Given the description of an element on the screen output the (x, y) to click on. 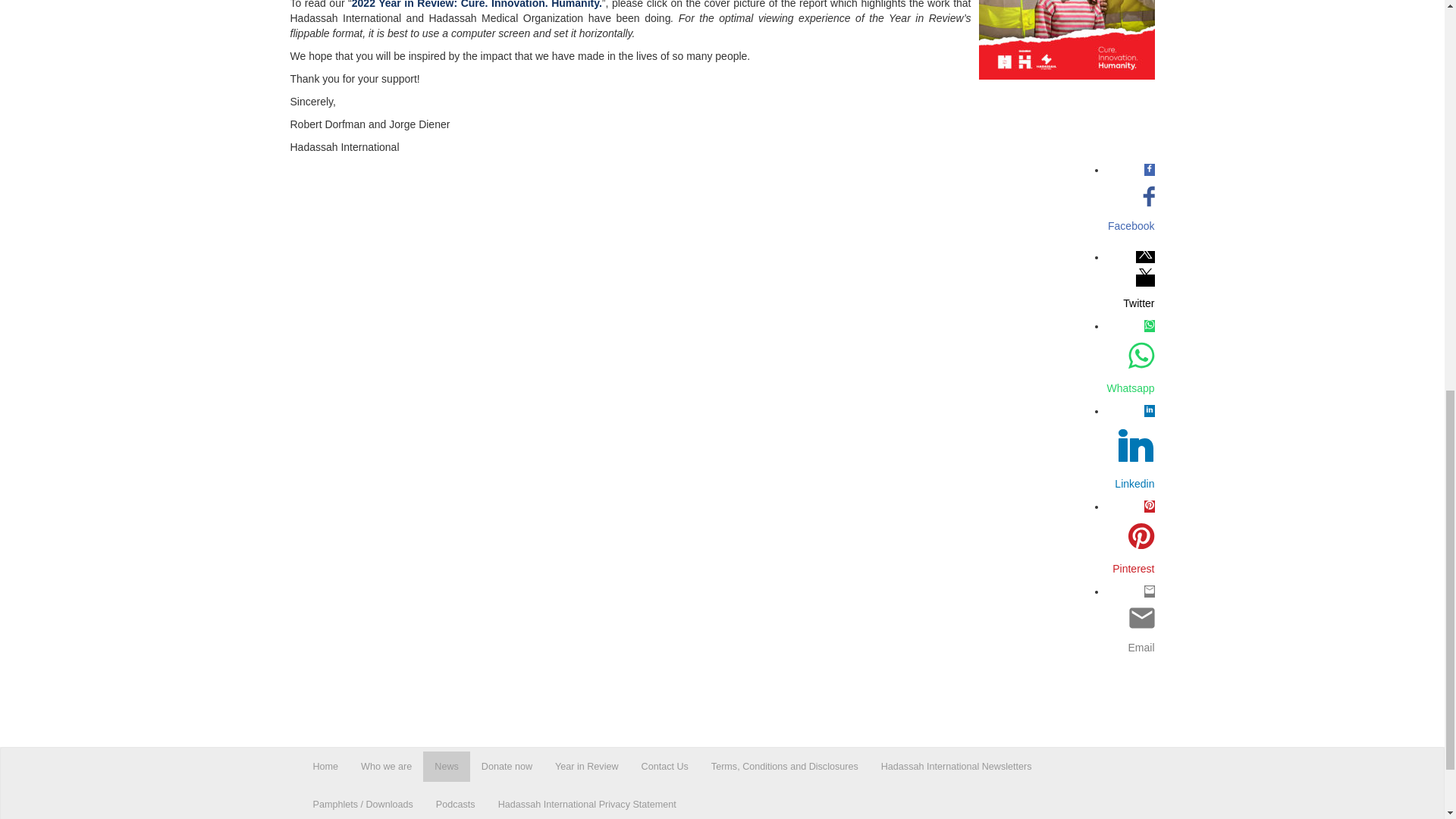
Facebook (1130, 226)
Twitter (1130, 304)
Pinterest (1130, 569)
Linkedin (1130, 484)
Email (1130, 648)
Whatsapp (1130, 388)
